Given the description of an element on the screen output the (x, y) to click on. 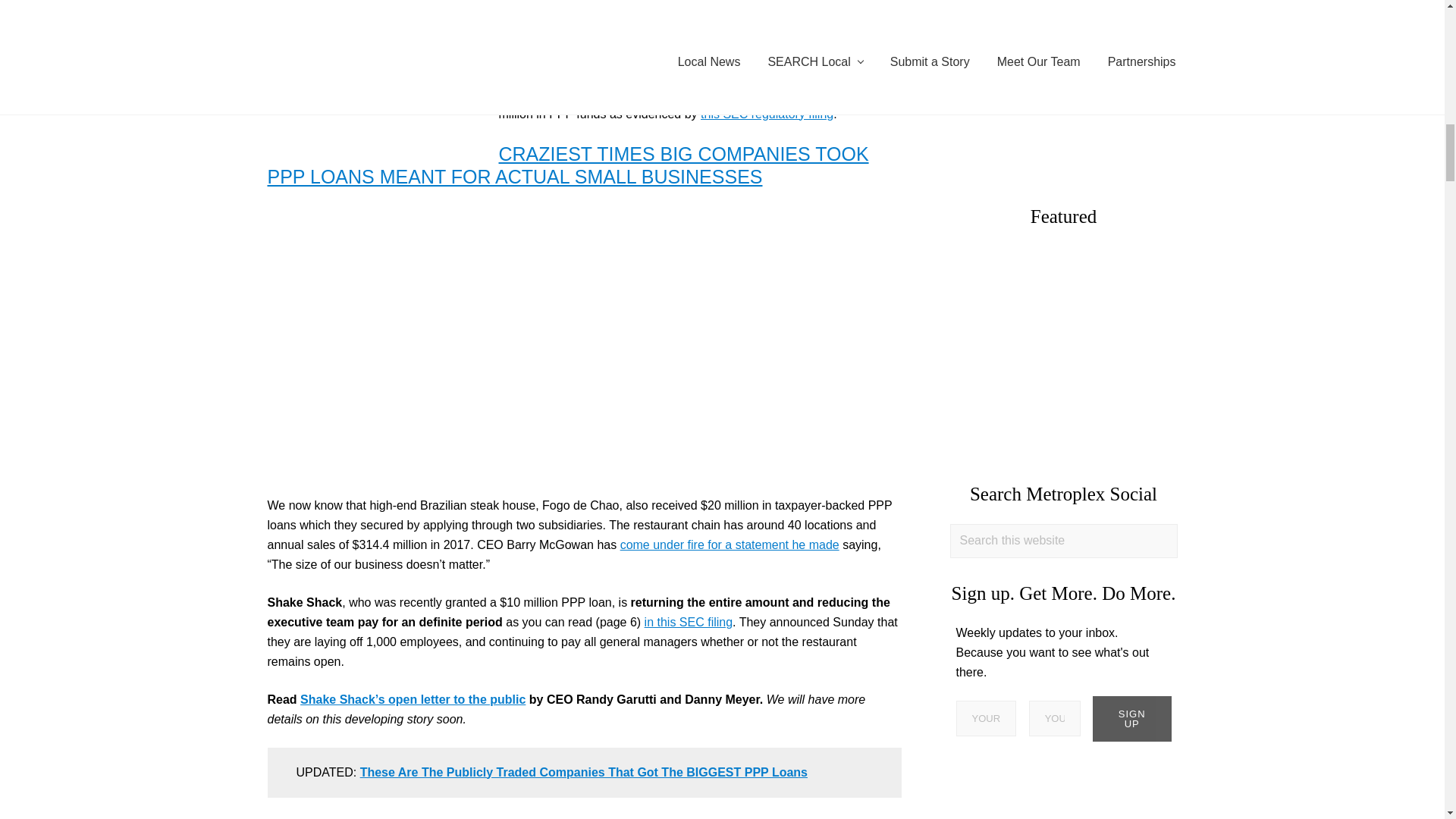
restaurants-uptown-dallas-curbside-delivery-covid-19 (1069, 352)
Sign up (1132, 719)
